Given the description of an element on the screen output the (x, y) to click on. 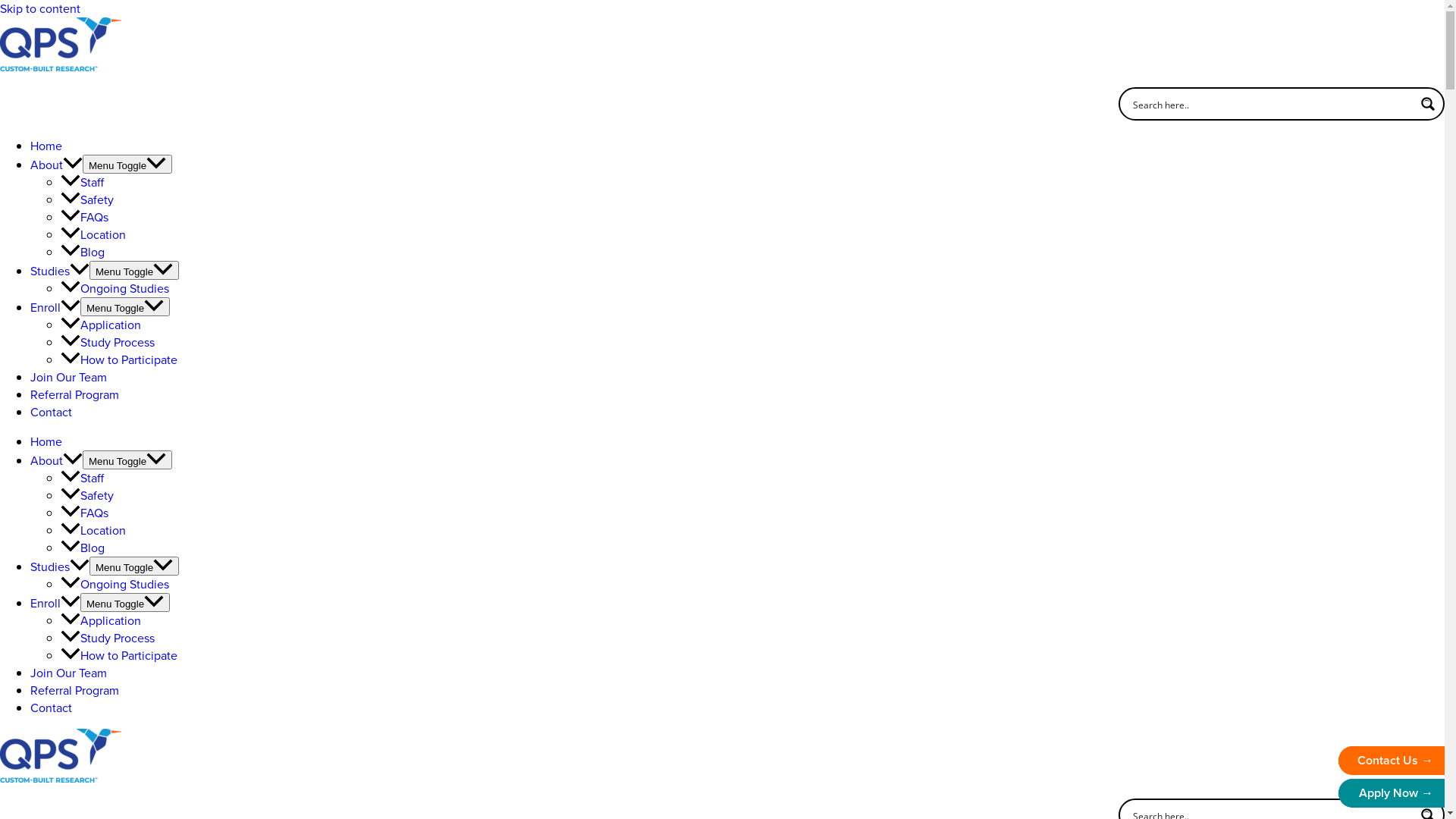
Application Element type: text (100, 324)
Enroll Element type: text (55, 602)
Referral Program Element type: text (74, 394)
Menu Toggle Element type: text (133, 269)
How to Participate Element type: text (118, 655)
Referral Program Element type: text (74, 690)
Blog Element type: text (82, 547)
Contact Element type: text (51, 707)
Ongoing Studies Element type: text (114, 288)
Home Element type: text (46, 441)
Menu Toggle Element type: text (127, 163)
Contact Element type: text (51, 411)
Ongoing Studies Element type: text (114, 584)
Study Process Element type: text (107, 637)
Location Element type: text (92, 234)
Home Element type: text (46, 145)
Skip to content Element type: text (40, 8)
Study Process Element type: text (107, 342)
Menu Toggle Element type: text (124, 306)
Menu Toggle Element type: text (124, 602)
FAQs Element type: text (84, 512)
Studies Element type: text (59, 270)
Blog Element type: text (82, 251)
About Element type: text (56, 164)
Safety Element type: text (86, 199)
Safety Element type: text (86, 495)
Join Our Team Element type: text (68, 376)
About Element type: text (56, 460)
Staff Element type: text (81, 477)
How to Participate Element type: text (118, 359)
FAQs Element type: text (84, 216)
Enroll Element type: text (55, 307)
Studies Element type: text (59, 566)
Staff Element type: text (81, 182)
Application Element type: text (100, 620)
Location Element type: text (92, 530)
Join Our Team Element type: text (68, 672)
Menu Toggle Element type: text (133, 565)
Menu Toggle Element type: text (127, 459)
